Given the description of an element on the screen output the (x, y) to click on. 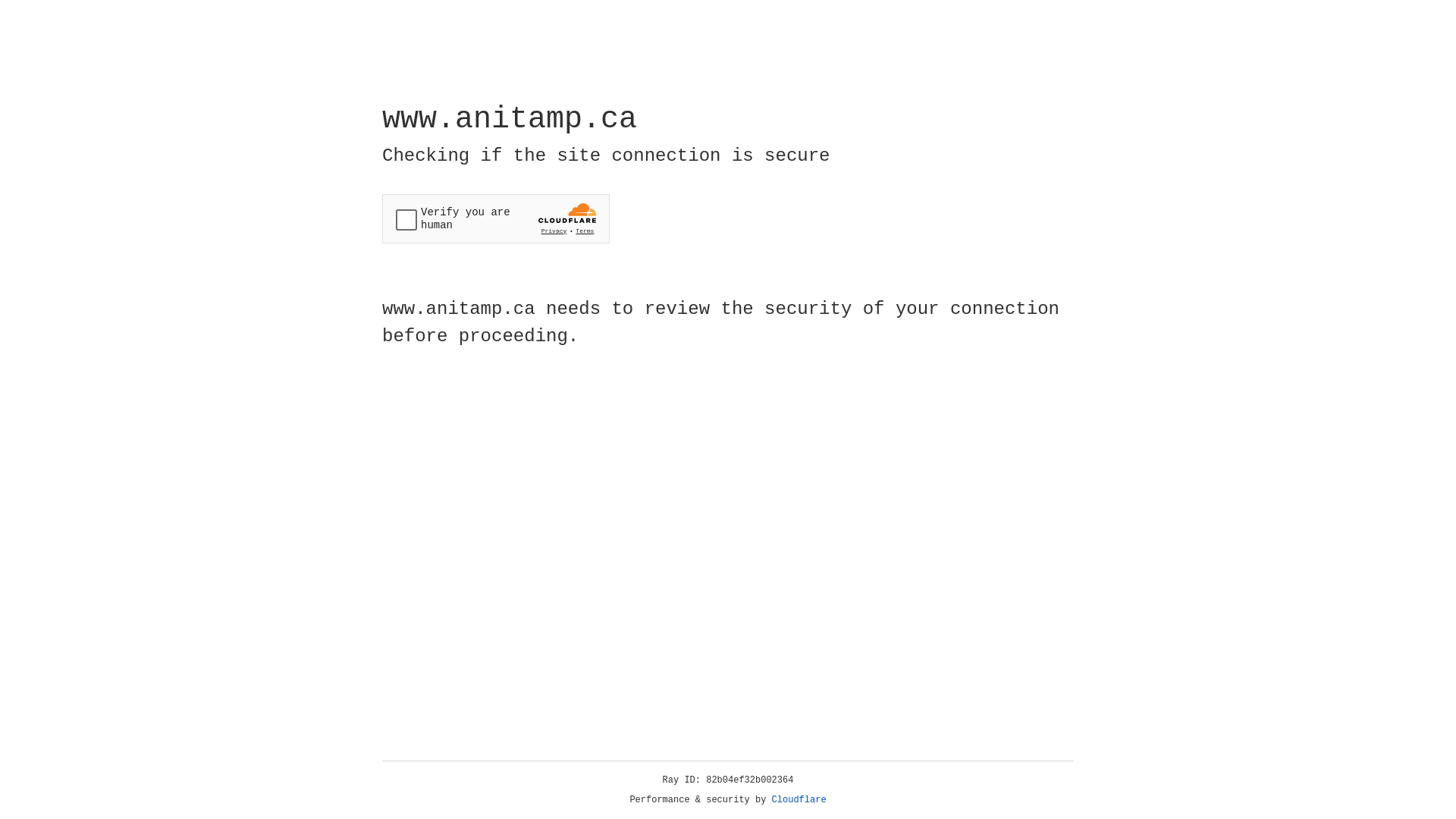
Widget containing a Cloudflare security challenge Element type: hover (495, 218)
Cloudflare Element type: text (798, 799)
